Given the description of an element on the screen output the (x, y) to click on. 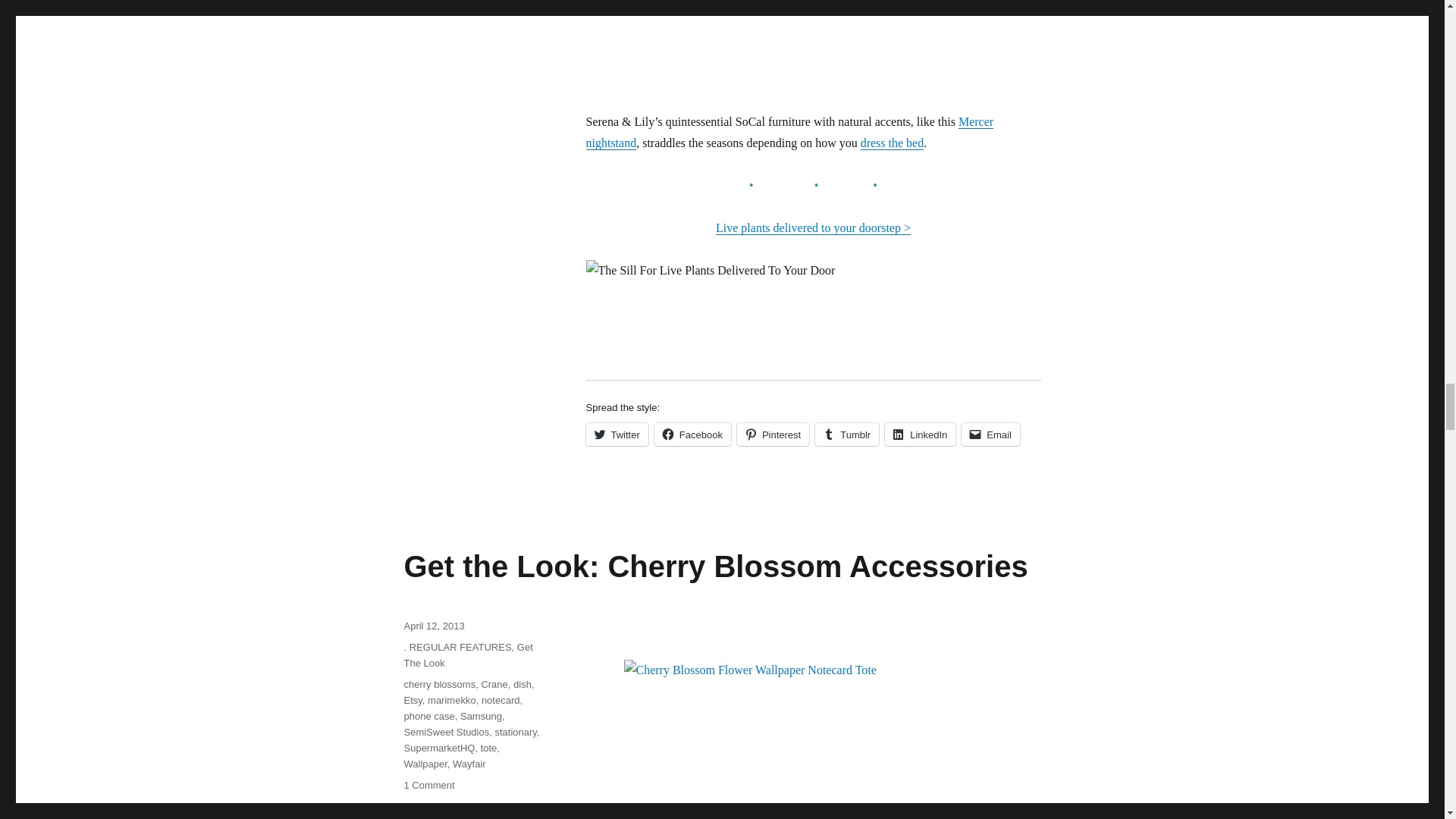
Click to share on Twitter (616, 434)
Click to share on LinkedIn (920, 434)
Click to share on Tumblr (847, 434)
Click to share on Pinterest (772, 434)
Click to share on Facebook (691, 434)
Click to email a link to a friend (990, 434)
